Given the description of an element on the screen output the (x, y) to click on. 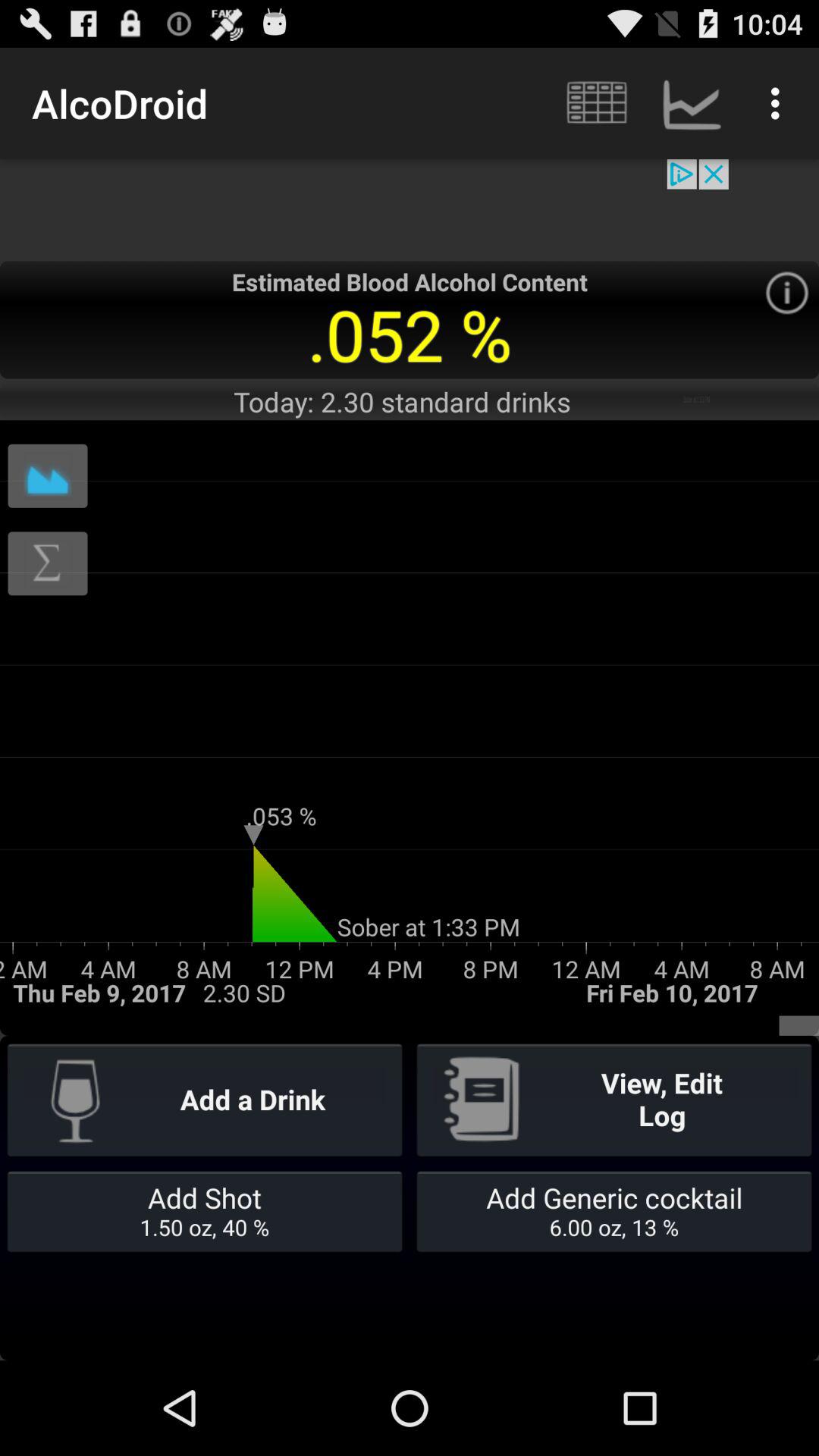
go to advertisement (409, 208)
